Given the description of an element on the screen output the (x, y) to click on. 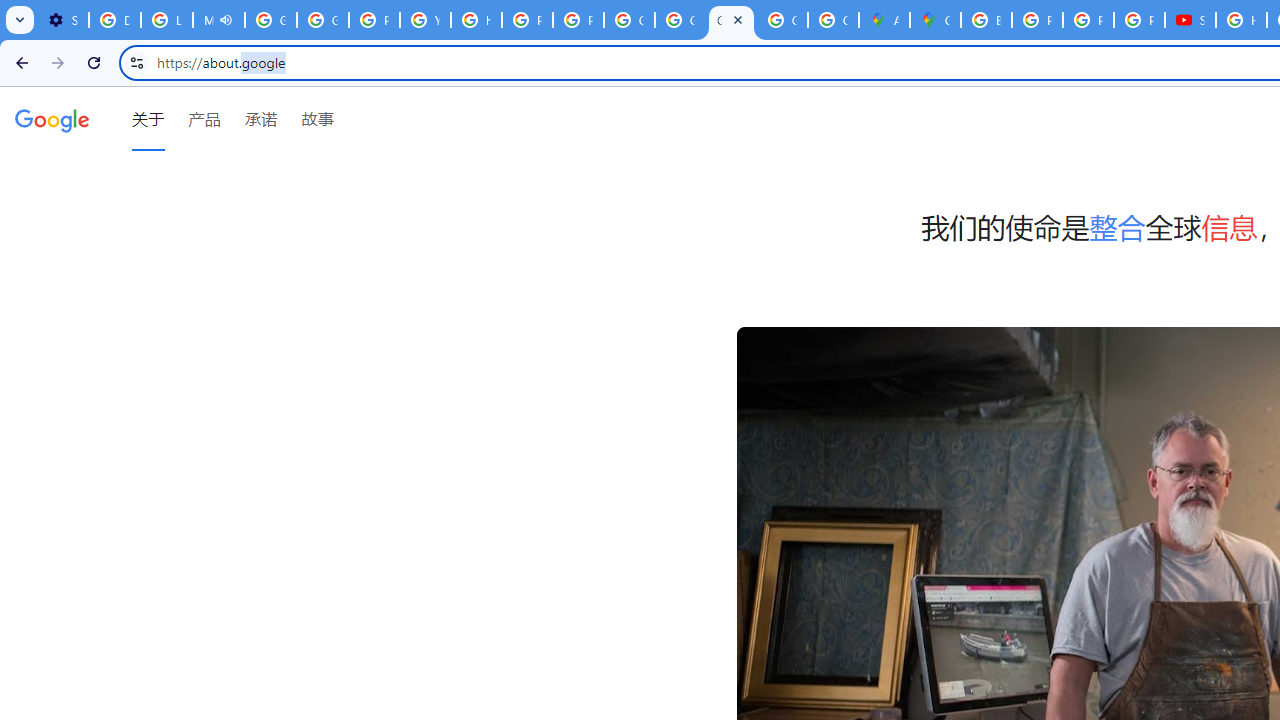
Privacy Help Center - Policies Help (374, 20)
Mute tab (225, 20)
Delete photos & videos - Computer - Google Photos Help (114, 20)
Subscriptions - YouTube (1189, 20)
https://scholar.google.com/ (475, 20)
Google (52, 119)
Create your Google Account (832, 20)
Google Maps (935, 20)
